Given the description of an element on the screen output the (x, y) to click on. 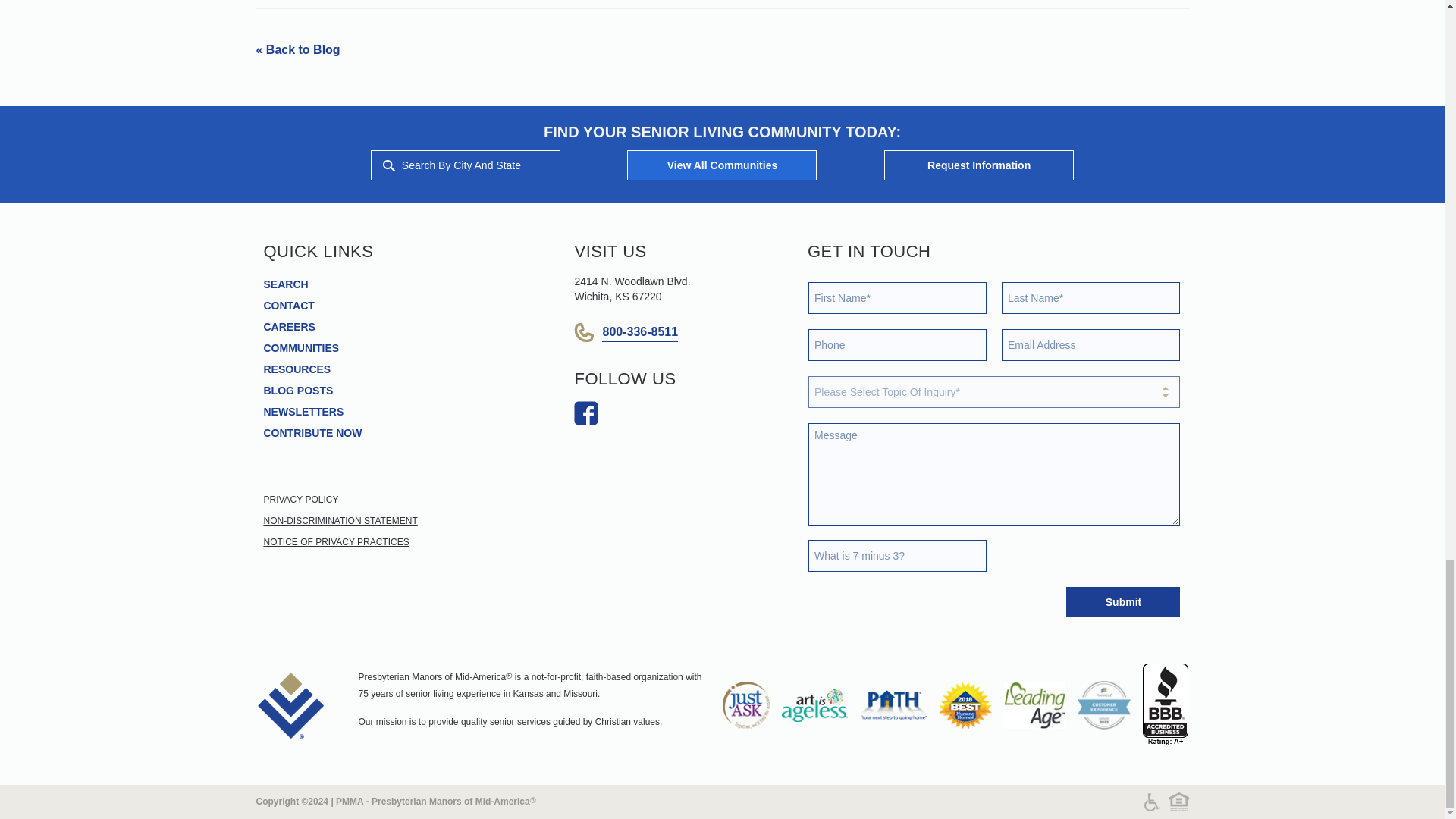
Message (994, 474)
Submit (1122, 602)
What is 7 minus 3? (897, 555)
